Given the description of an element on the screen output the (x, y) to click on. 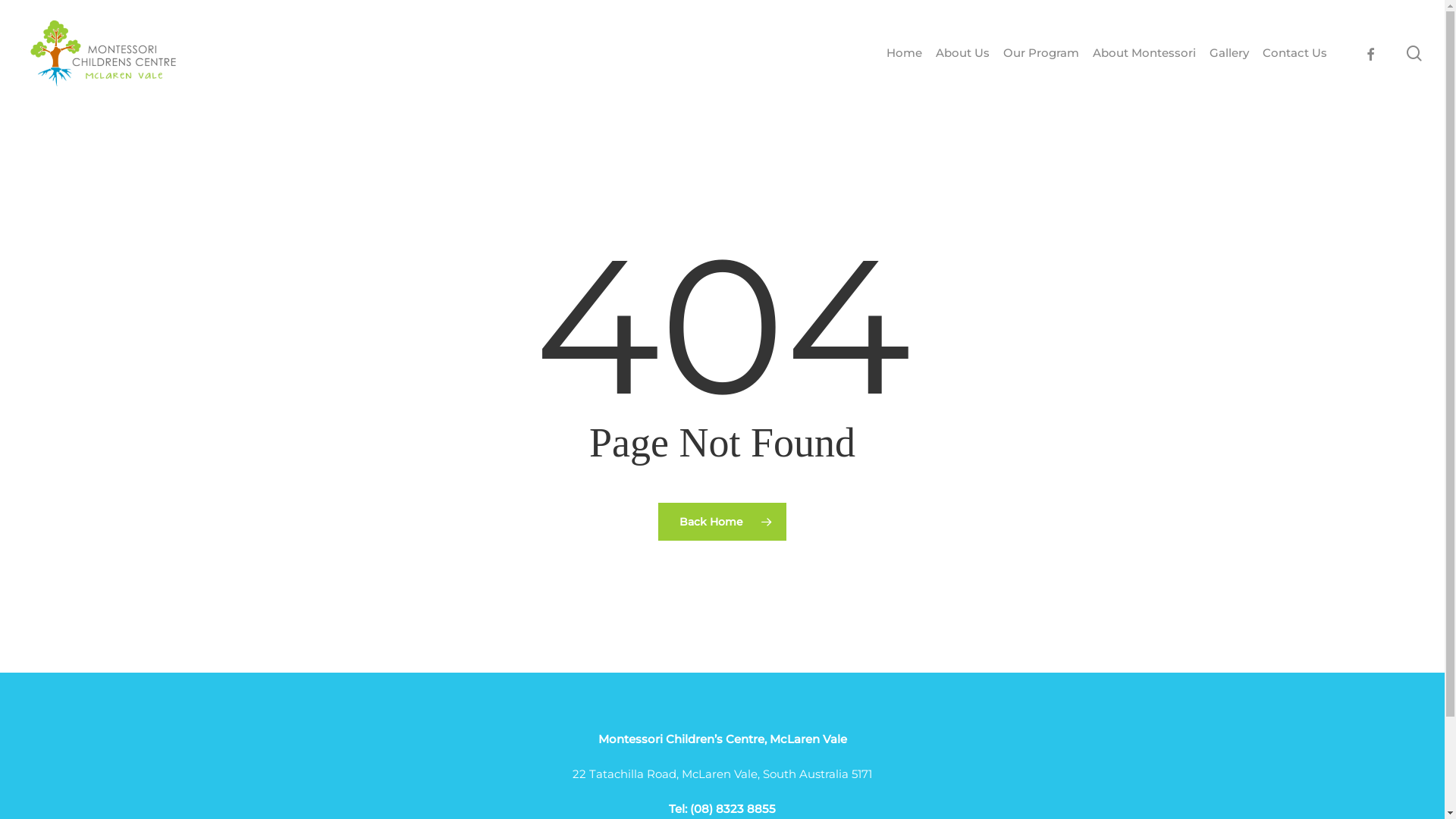
Back Home Element type: text (722, 520)
Our Program Element type: text (1041, 52)
facebook Element type: text (1369, 52)
About Montessori Element type: text (1143, 52)
Gallery Element type: text (1228, 52)
Contact Us Element type: text (1294, 52)
About Us Element type: text (962, 52)
Home Element type: text (904, 52)
search Element type: text (1414, 53)
